Given the description of an element on the screen output the (x, y) to click on. 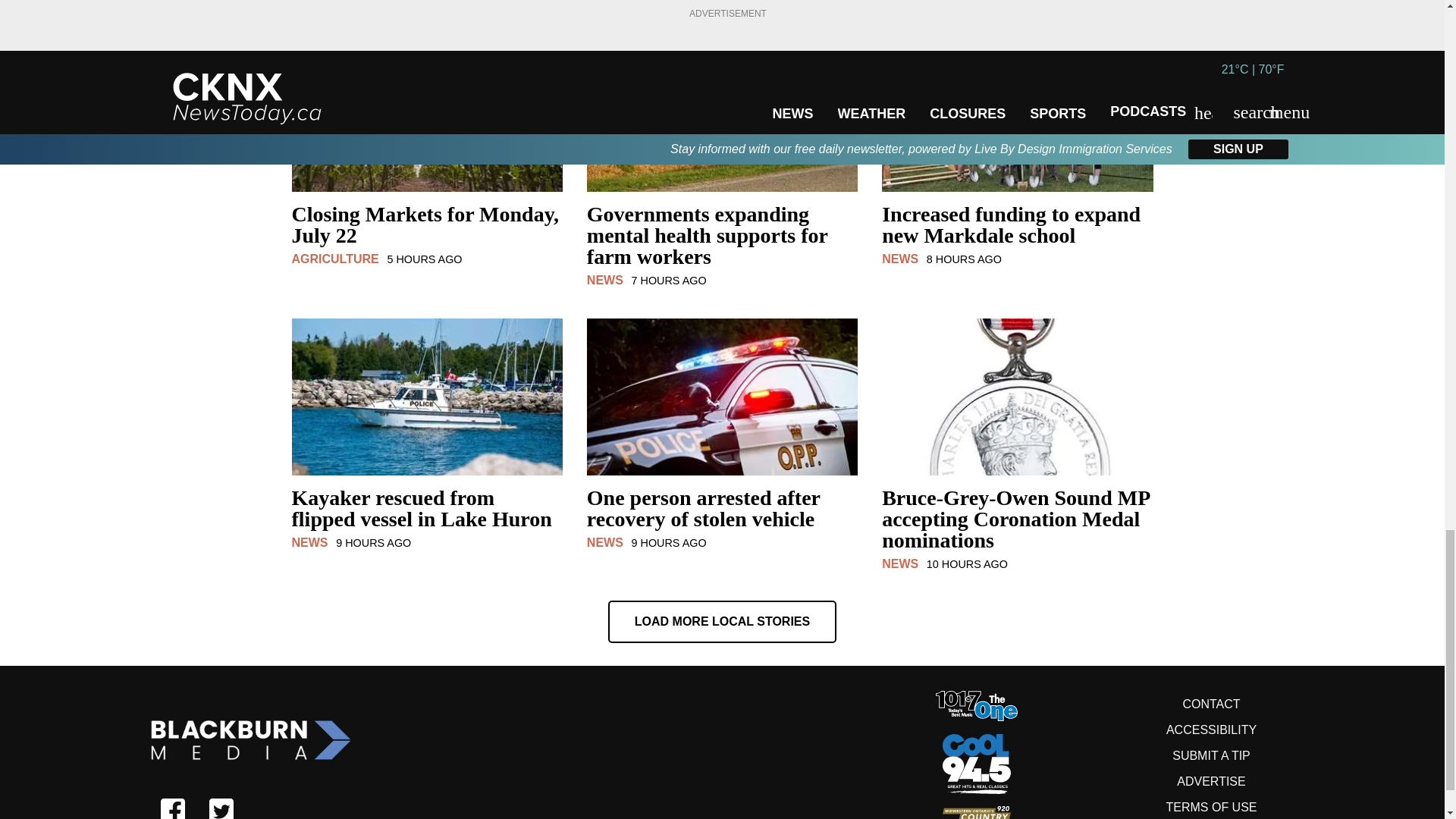
Closing Markets for Monday, July 22 (426, 234)
AGRICULTURE (334, 258)
